Given the description of an element on the screen output the (x, y) to click on. 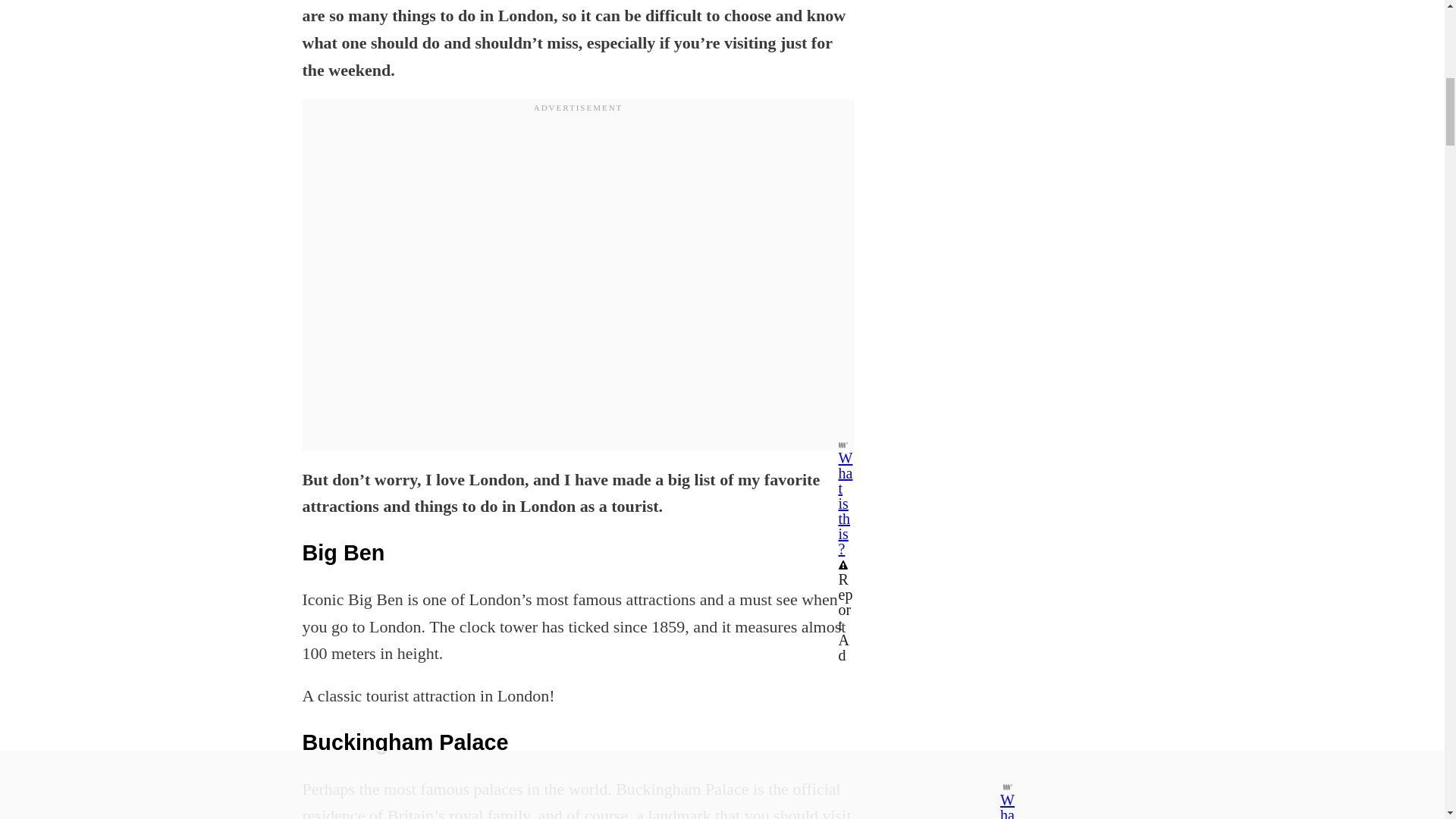
3rd party ad content (577, 212)
3rd party ad content (1040, 80)
